Given the description of an element on the screen output the (x, y) to click on. 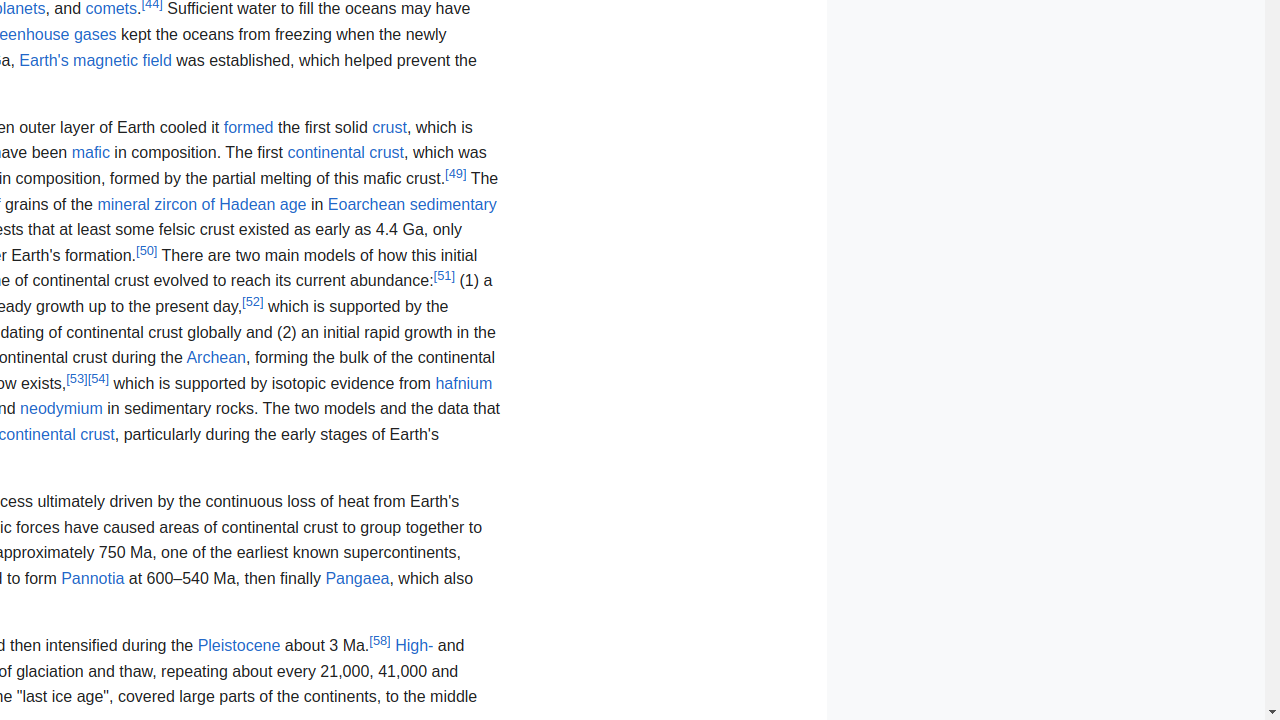
[50] Element type: link (147, 250)
crust Element type: link (389, 127)
Pangaea Element type: link (357, 578)
[49] Element type: link (456, 173)
[54] Element type: link (98, 377)
